Given the description of an element on the screen output the (x, y) to click on. 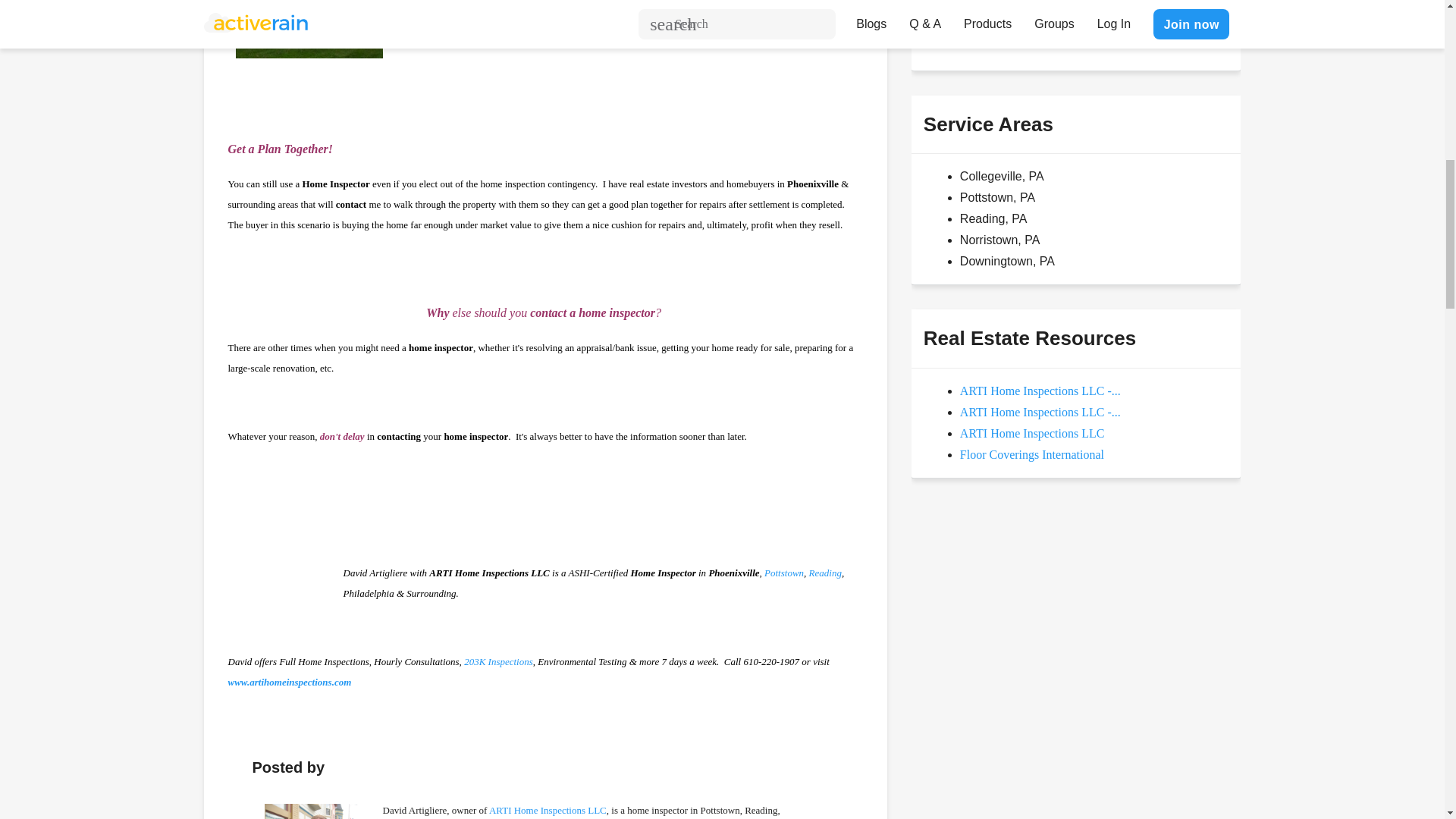
ARTI home inspections LLC (288, 681)
Reading (825, 572)
ARTI Home Inspections LLC (548, 809)
Pottstown (783, 572)
pottstown home inspector (783, 572)
home inspector pottstown (320, 811)
ARTI Home Inspections LLC - Reading (1040, 390)
why contact Home inspector phoenixville (284, 571)
ARTI Home Inspections LLC (548, 809)
203K Inspections (498, 661)
